Given the description of an element on the screen output the (x, y) to click on. 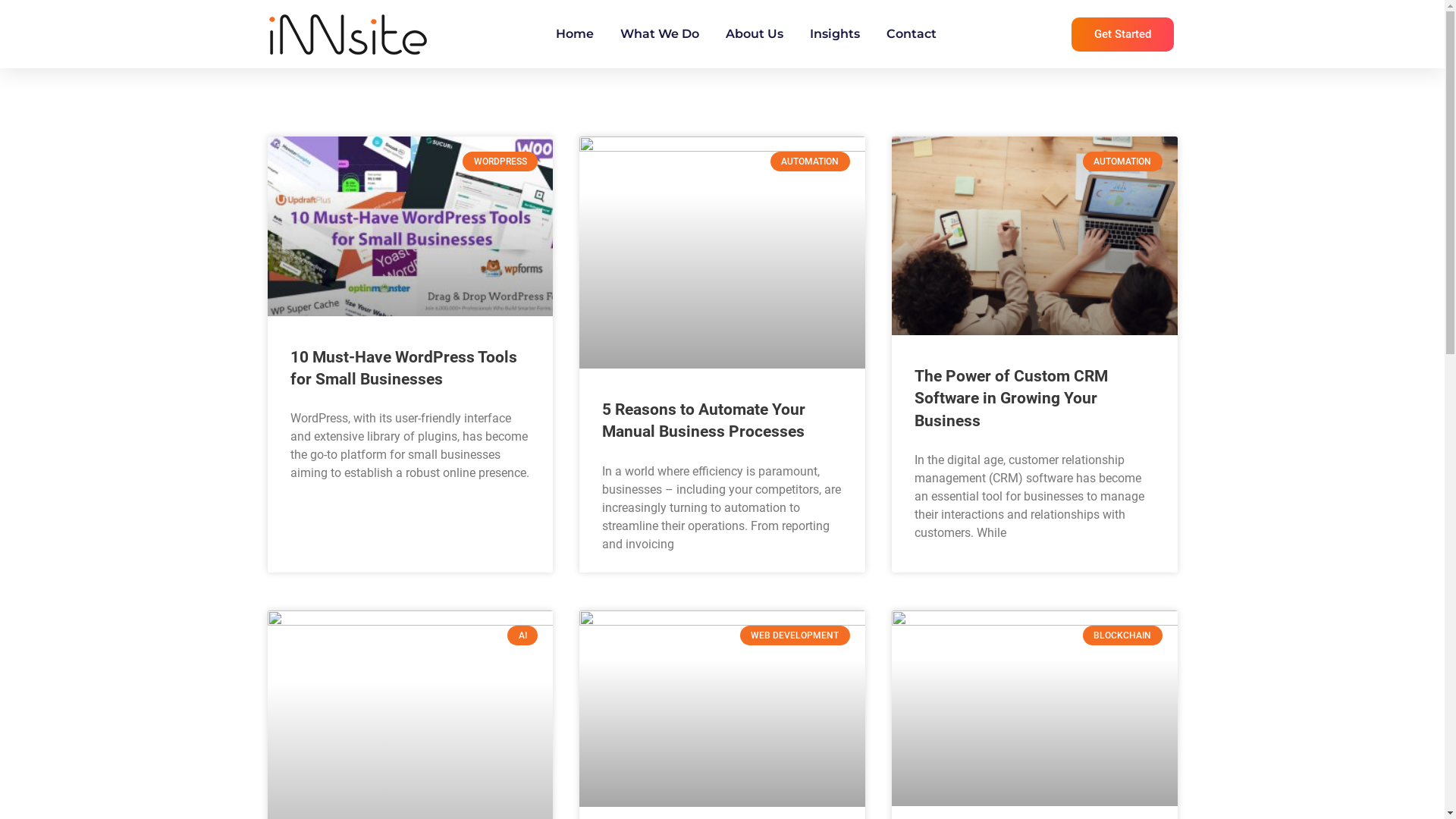
Home Element type: text (574, 33)
Insights Element type: text (834, 33)
Get Started Element type: text (1122, 33)
5 Reasons to Automate Your Manual Business Processes Element type: text (703, 420)
What We Do Element type: text (659, 33)
10 Must-Have WordPress Tools for Small Businesses Element type: text (402, 368)
Contact Element type: text (911, 33)
The Power of Custom CRM Software in Growing Your Business Element type: text (1010, 398)
About Us Element type: text (754, 33)
